Given the description of an element on the screen output the (x, y) to click on. 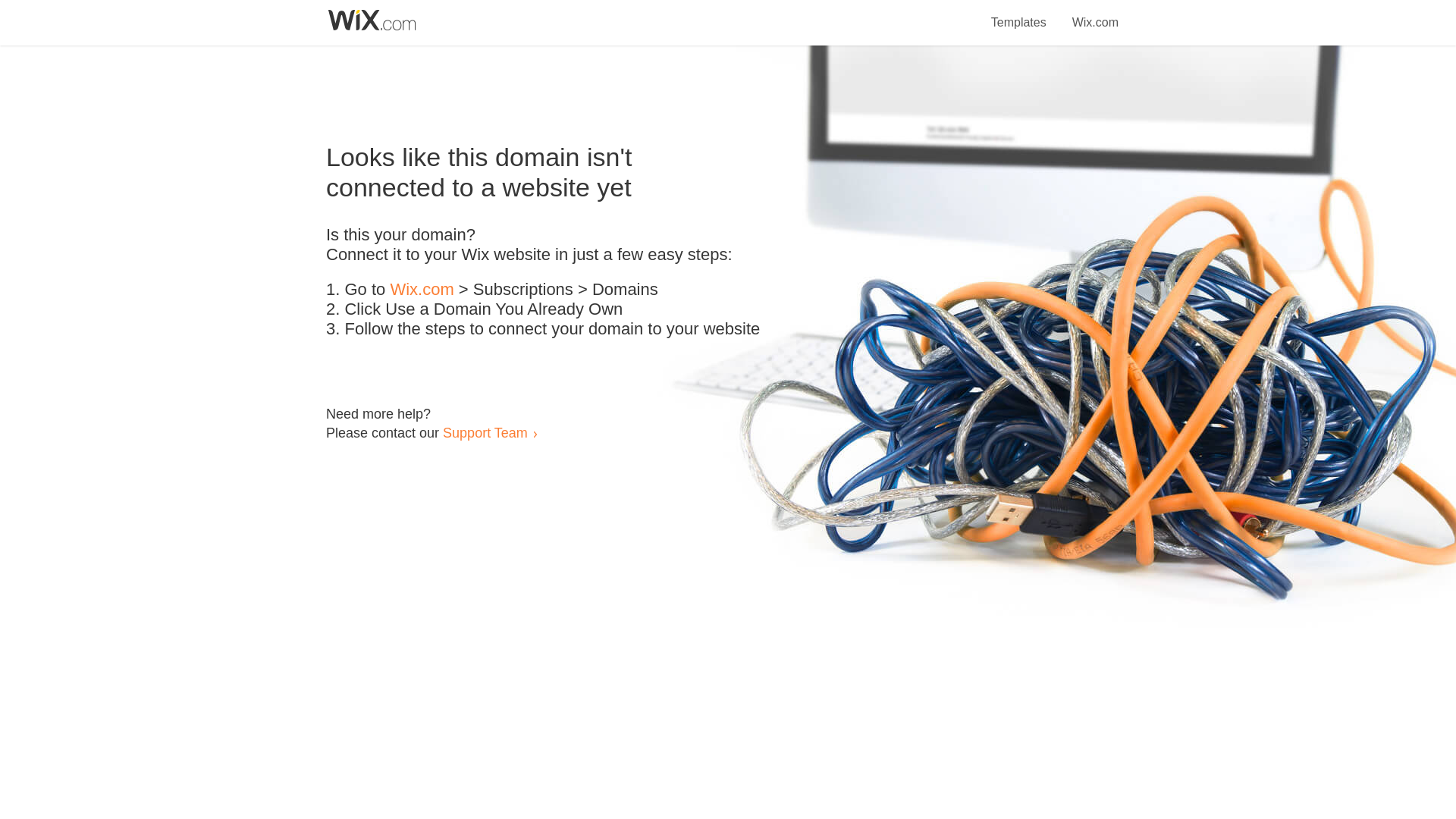
Wix.com (1095, 14)
Wix.com (421, 289)
Support Team (484, 432)
Templates (1018, 14)
